Given the description of an element on the screen output the (x, y) to click on. 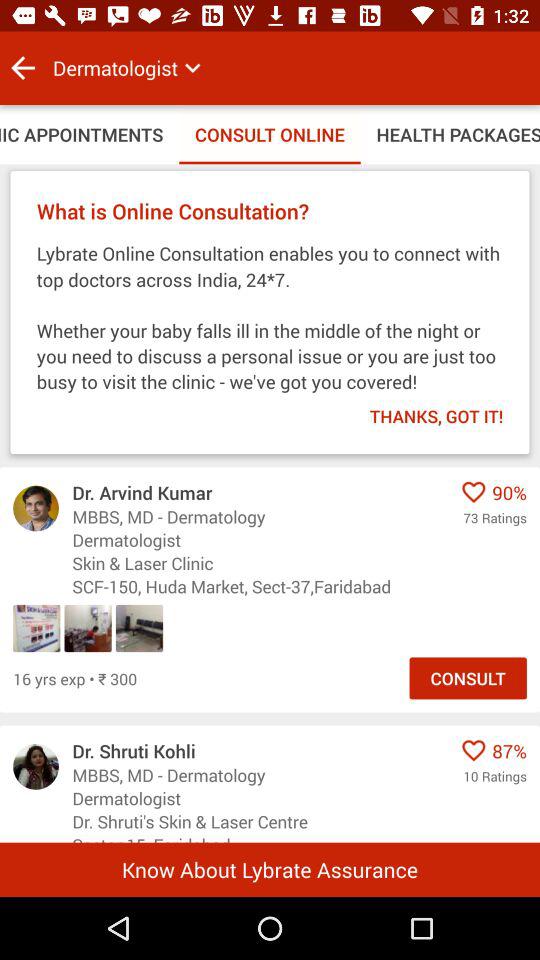
go to previous screen (23, 68)
